Given the description of an element on the screen output the (x, y) to click on. 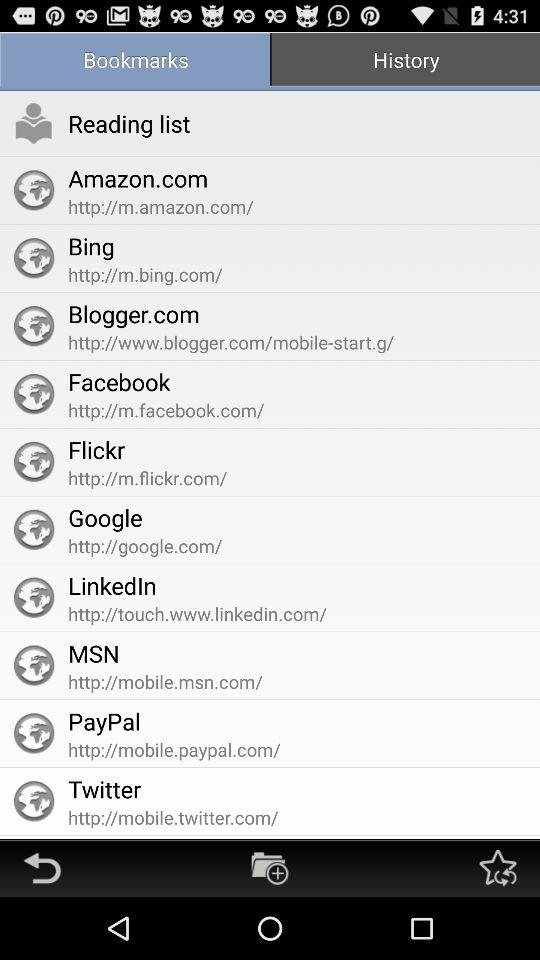
launch the item below bookmarks icon (129, 123)
